Given the description of an element on the screen output the (x, y) to click on. 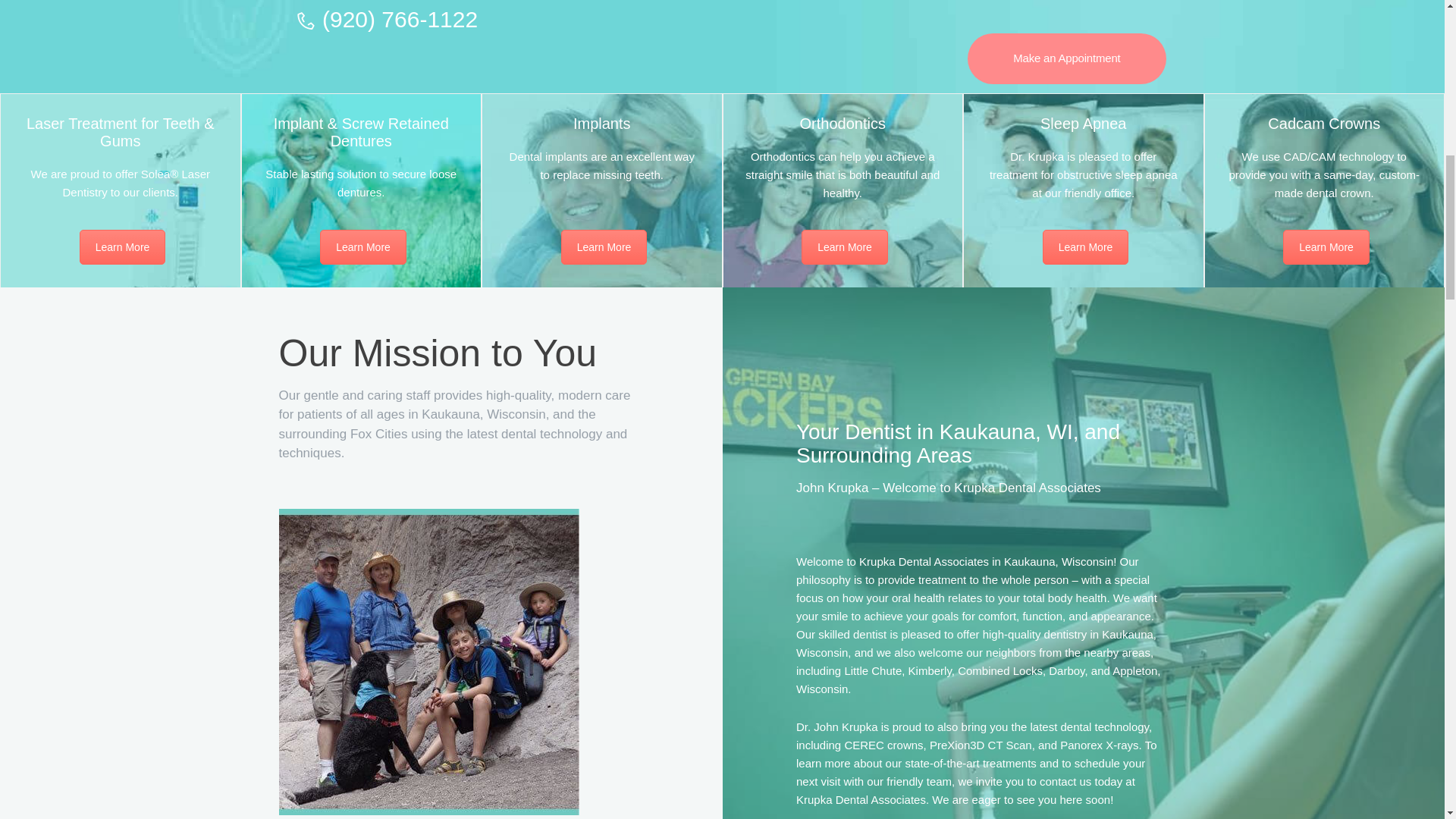
family (429, 661)
